Given the description of an element on the screen output the (x, y) to click on. 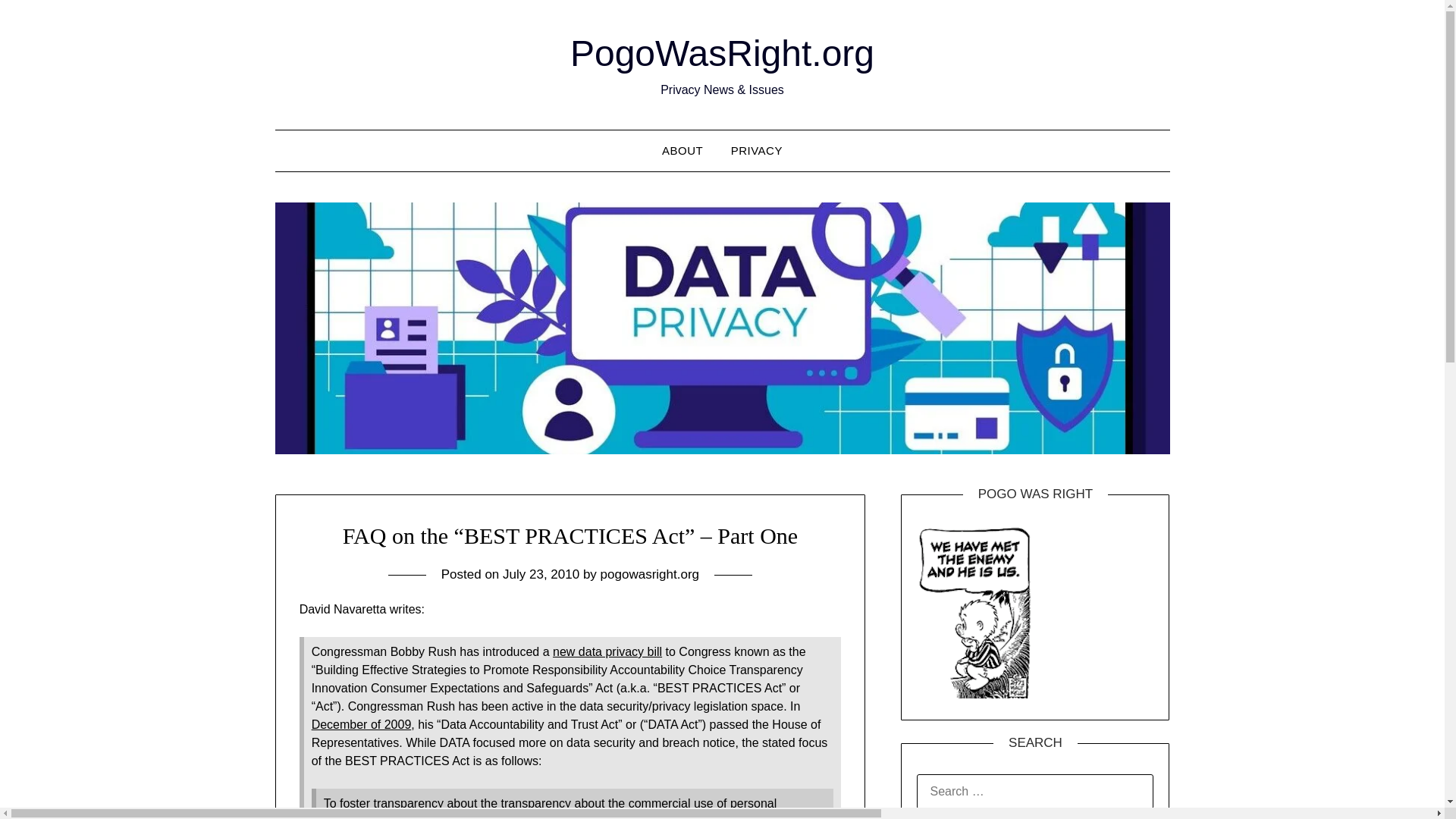
pogowasright.org (648, 574)
PogoWasRight.org (722, 53)
July 23, 2010 (540, 574)
ABOUT (681, 150)
Search (38, 22)
December of 2009 (361, 724)
new data privacy bill (607, 651)
PRIVACY (756, 150)
